Given the description of an element on the screen output the (x, y) to click on. 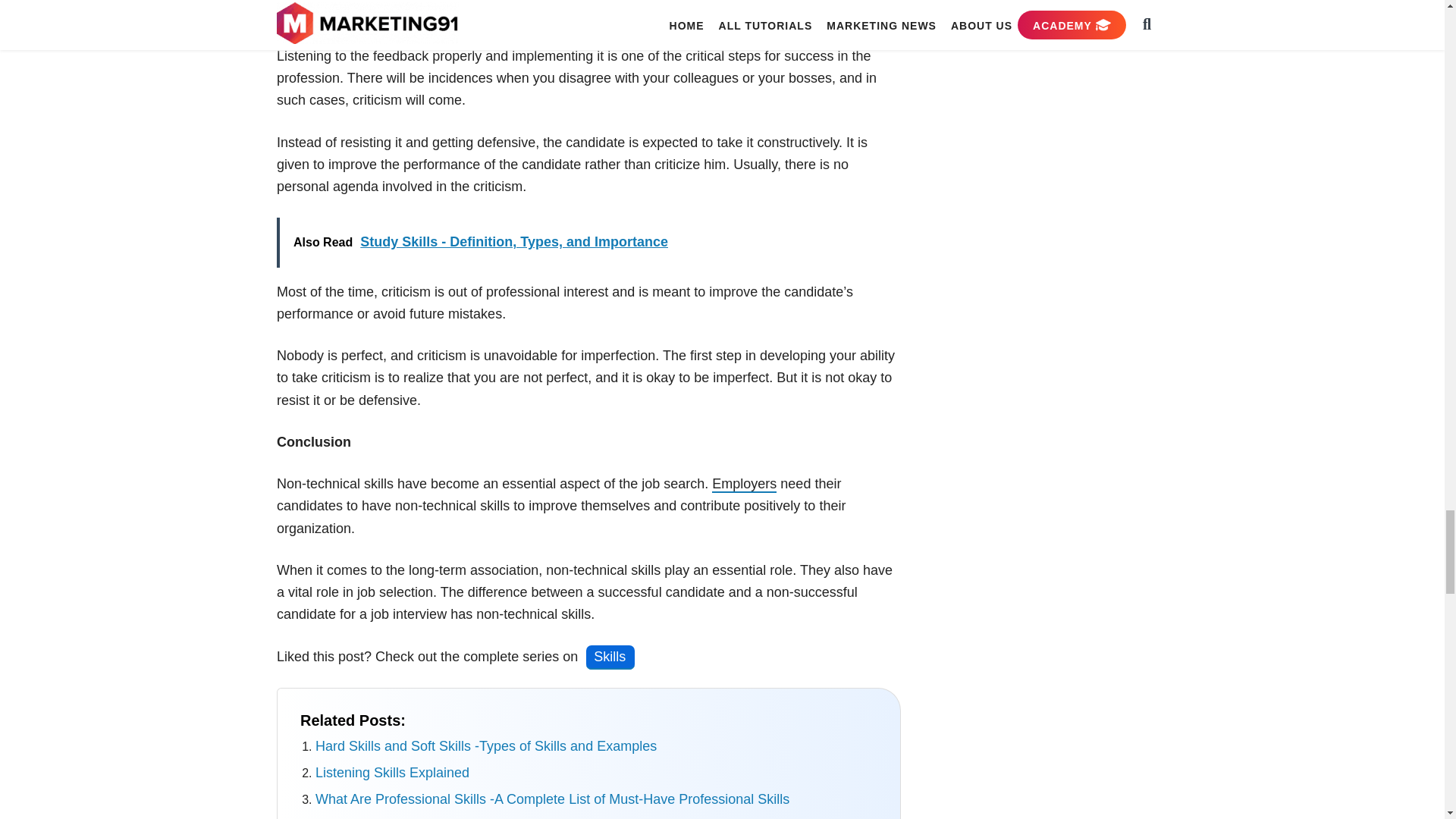
Hard Skills and Soft Skills -Types of Skills and Examples (485, 745)
Listening Skills Explained (391, 772)
